Given the description of an element on the screen output the (x, y) to click on. 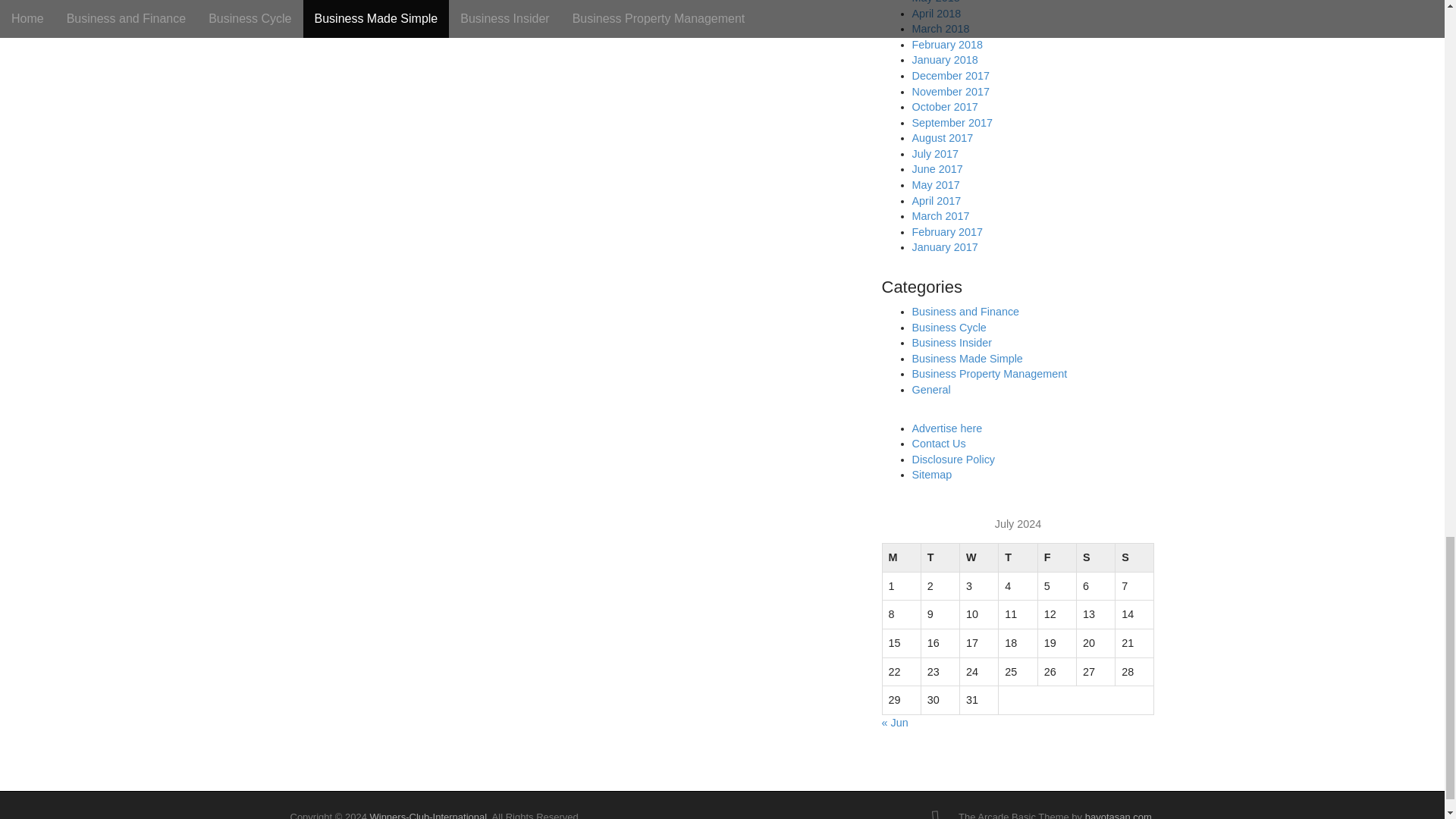
Tuesday (939, 557)
Wednesday (978, 557)
Saturday (1095, 557)
Sunday (1134, 557)
Friday (1055, 557)
Thursday (1017, 557)
Monday (901, 557)
